Given the description of an element on the screen output the (x, y) to click on. 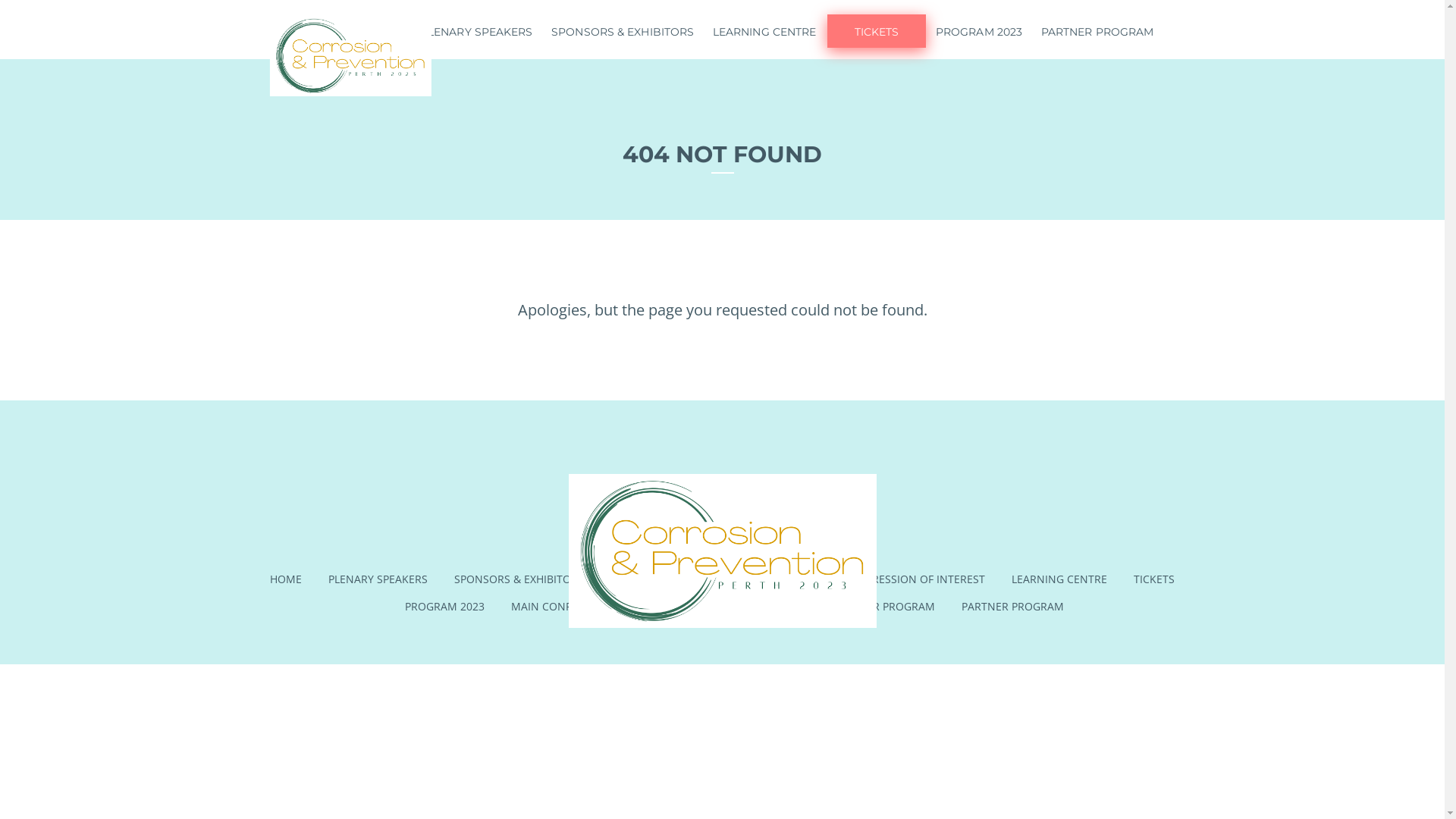
LEARNING CENTRE Element type: text (764, 29)
PARTNER PROGRAM Element type: text (883, 606)
PLENARY SPEAKERS Element type: text (377, 579)
EXHIBITOR MAP 2023 Element type: text (773, 579)
SPONSORS & EXHIBITORS Element type: text (518, 579)
SPONSORS & EXHIBITORS Element type: text (622, 29)
APPLICATOR DAY 2023 Element type: text (749, 606)
PLENARY SPEAKERS Element type: text (476, 29)
LEARNING CENTRE Element type: text (1059, 579)
PARTNER PROGRAM Element type: text (1096, 29)
EXPRESSION OF INTEREST Element type: text (919, 579)
PROGRAM 2023 Element type: text (444, 606)
PARTNER PROGRAM Element type: text (1012, 606)
MAIN CONFERENCE PROGRAM Element type: text (588, 606)
TICKETS Element type: text (1153, 579)
HOME Element type: text (285, 579)
SPONSORS 2023 Element type: text (651, 579)
TICKETS Element type: text (876, 30)
HOME Element type: text (384, 29)
PROGRAM 2023 Element type: text (979, 29)
